Given the description of an element on the screen output the (x, y) to click on. 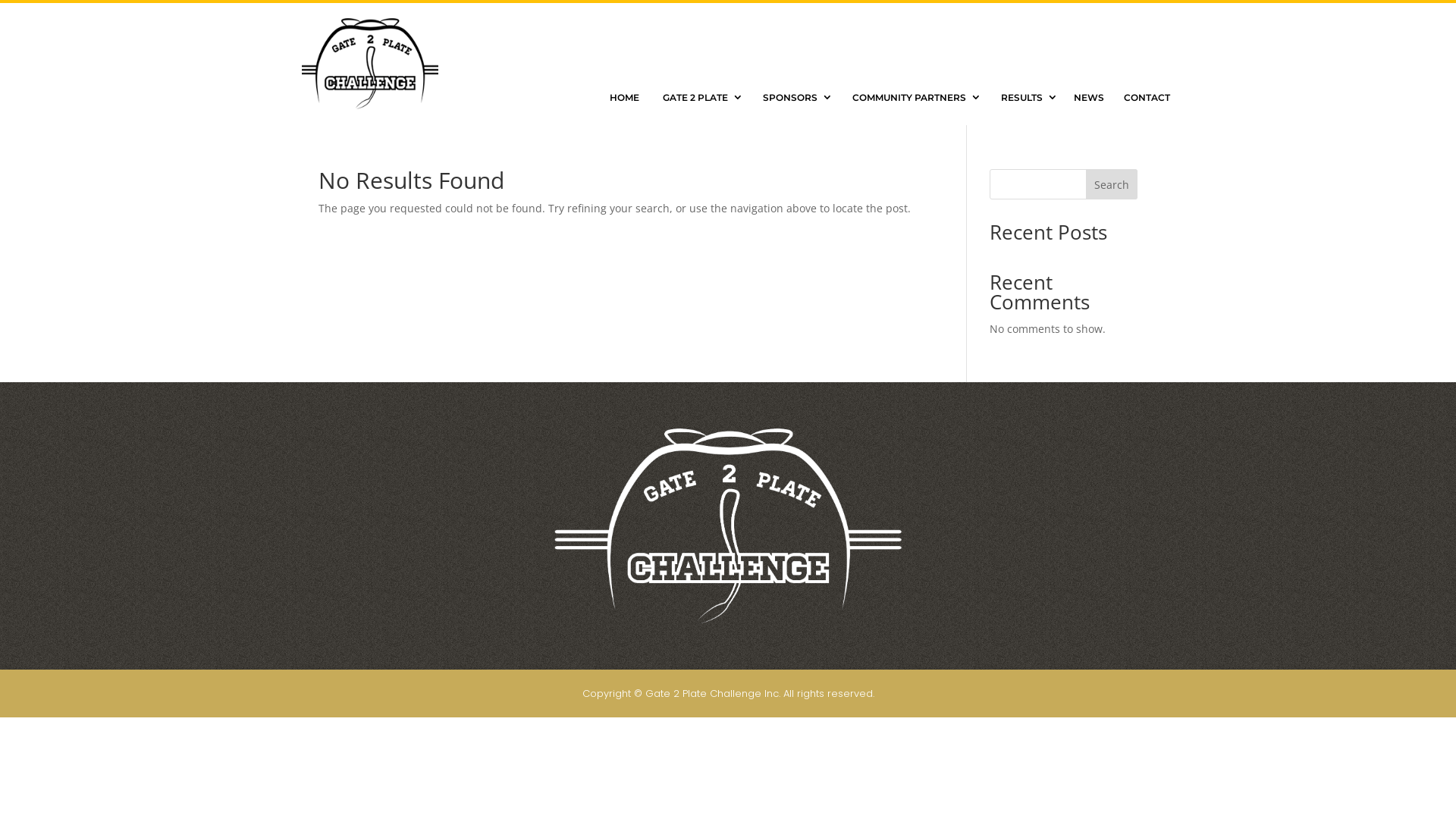
Search Element type: text (1111, 184)
short-logo Element type: hover (369, 63)
NEWS Element type: text (1088, 97)
COMMUNITY PARTNERS Element type: text (912, 97)
SPONSORS Element type: text (793, 97)
HOME Element type: text (624, 97)
short-logo-white-transparent Element type: hover (727, 525)
RESULTS Element type: text (1025, 97)
GATE 2 PLATE Element type: text (699, 97)
CONTACT Element type: text (1146, 97)
